Given the description of an element on the screen output the (x, y) to click on. 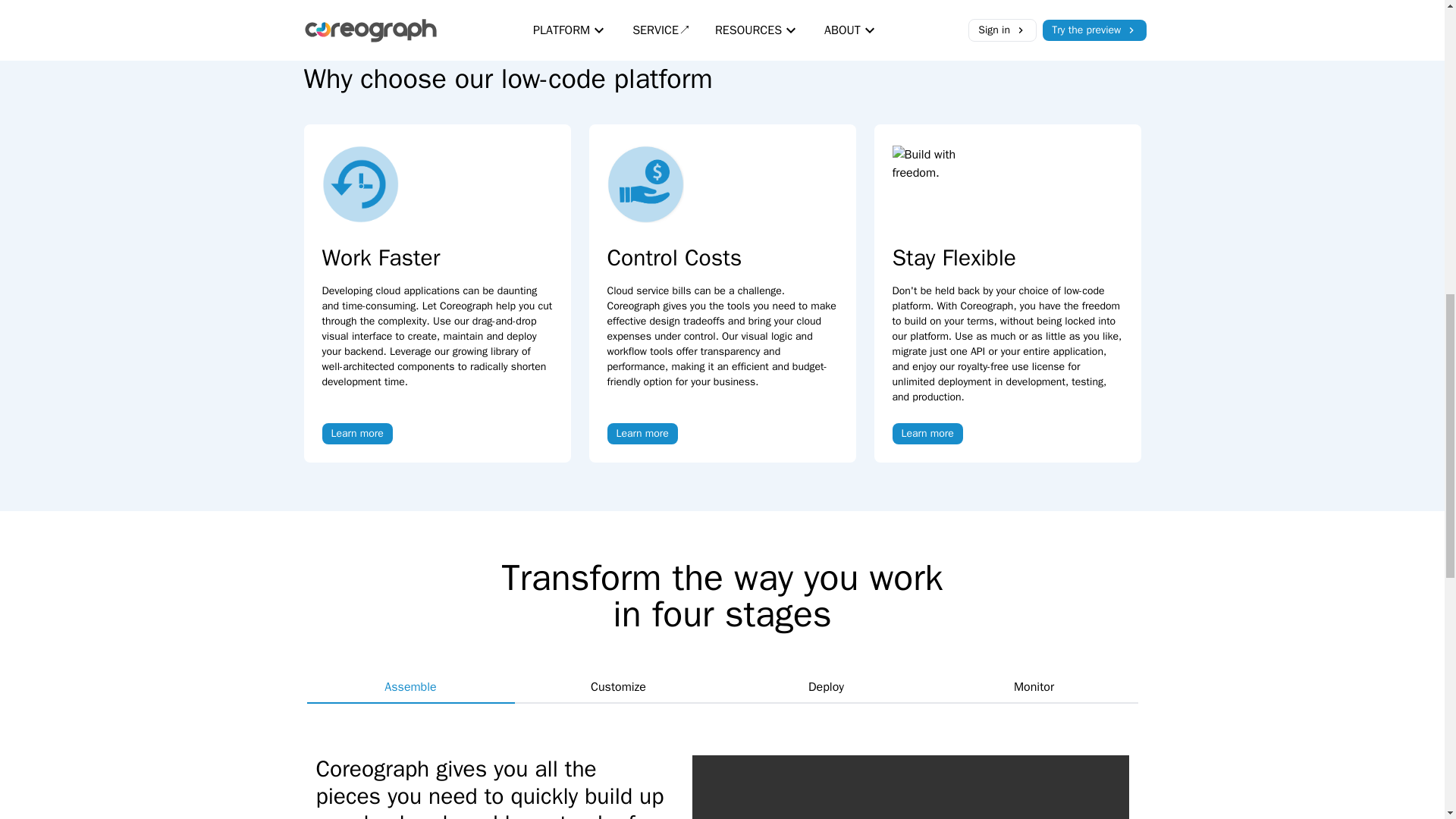
Monitor (1033, 687)
Assemble (409, 687)
Deploy (826, 687)
Customize (617, 687)
Learn more (356, 433)
Learn more (926, 433)
Learn more (642, 433)
